Given the description of an element on the screen output the (x, y) to click on. 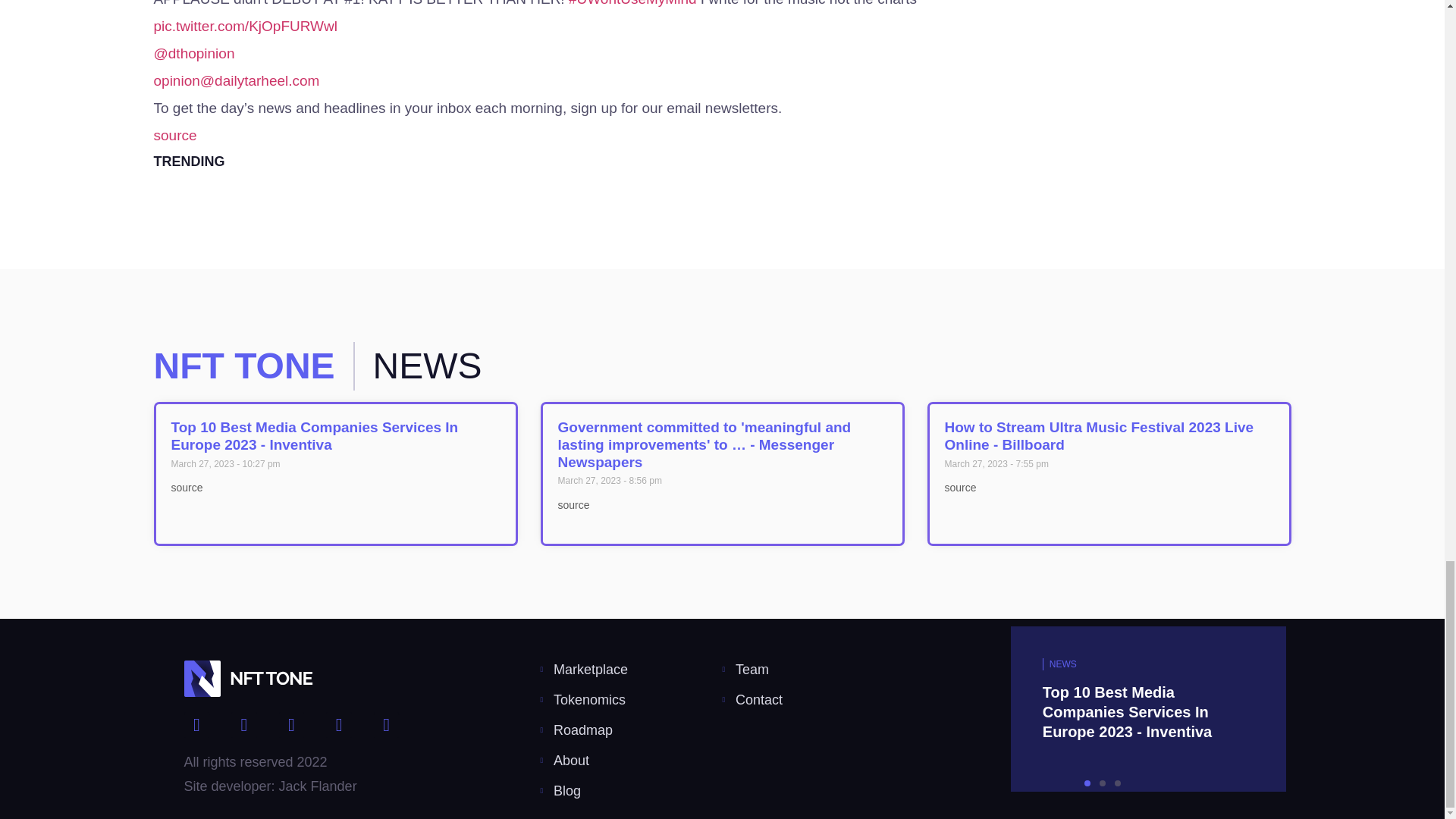
Marketplace (631, 669)
Tokenomics (631, 700)
source (174, 135)
